Given the description of an element on the screen output the (x, y) to click on. 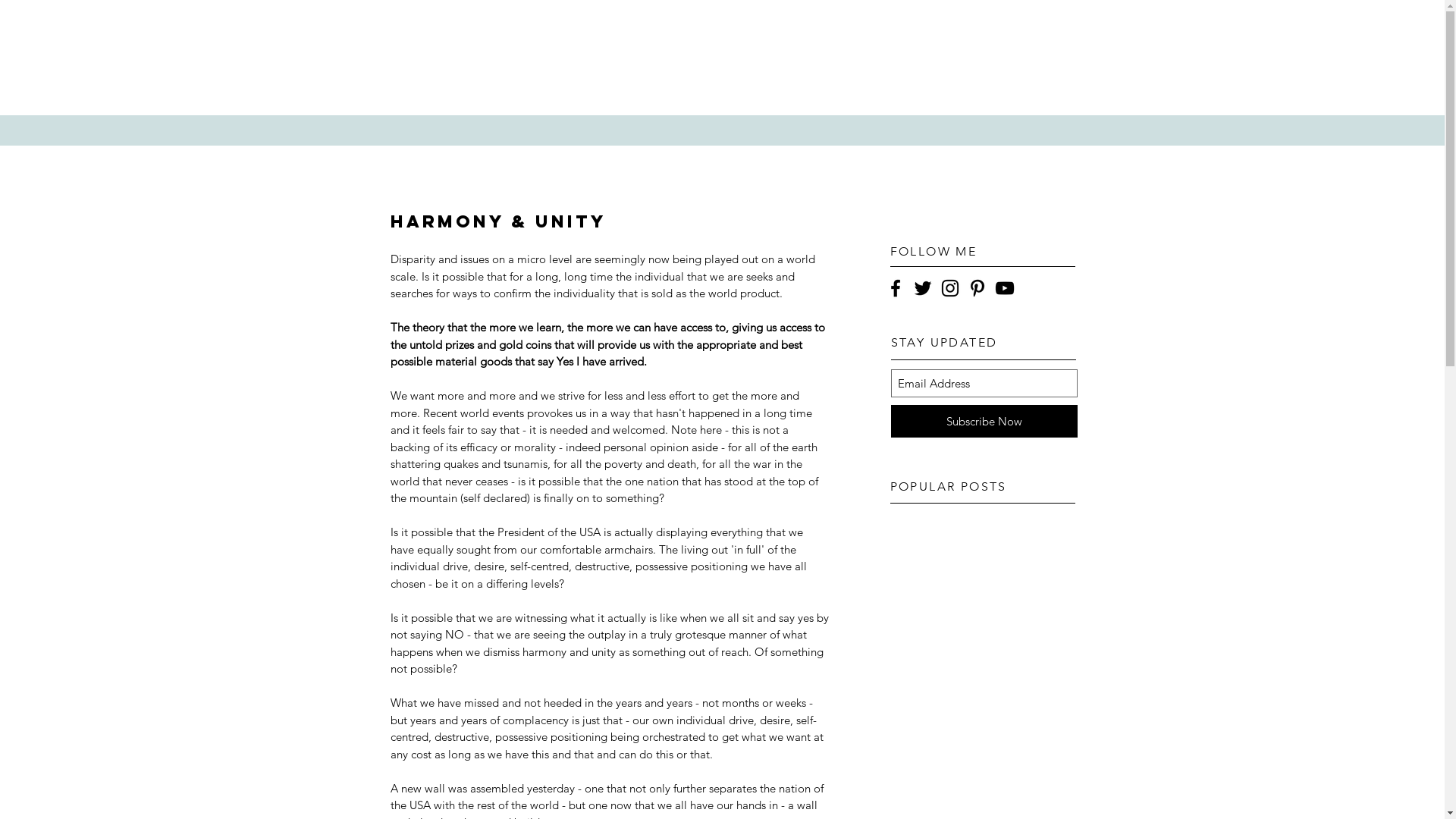
Subscribe Now Element type: text (983, 420)
